Given the description of an element on the screen output the (x, y) to click on. 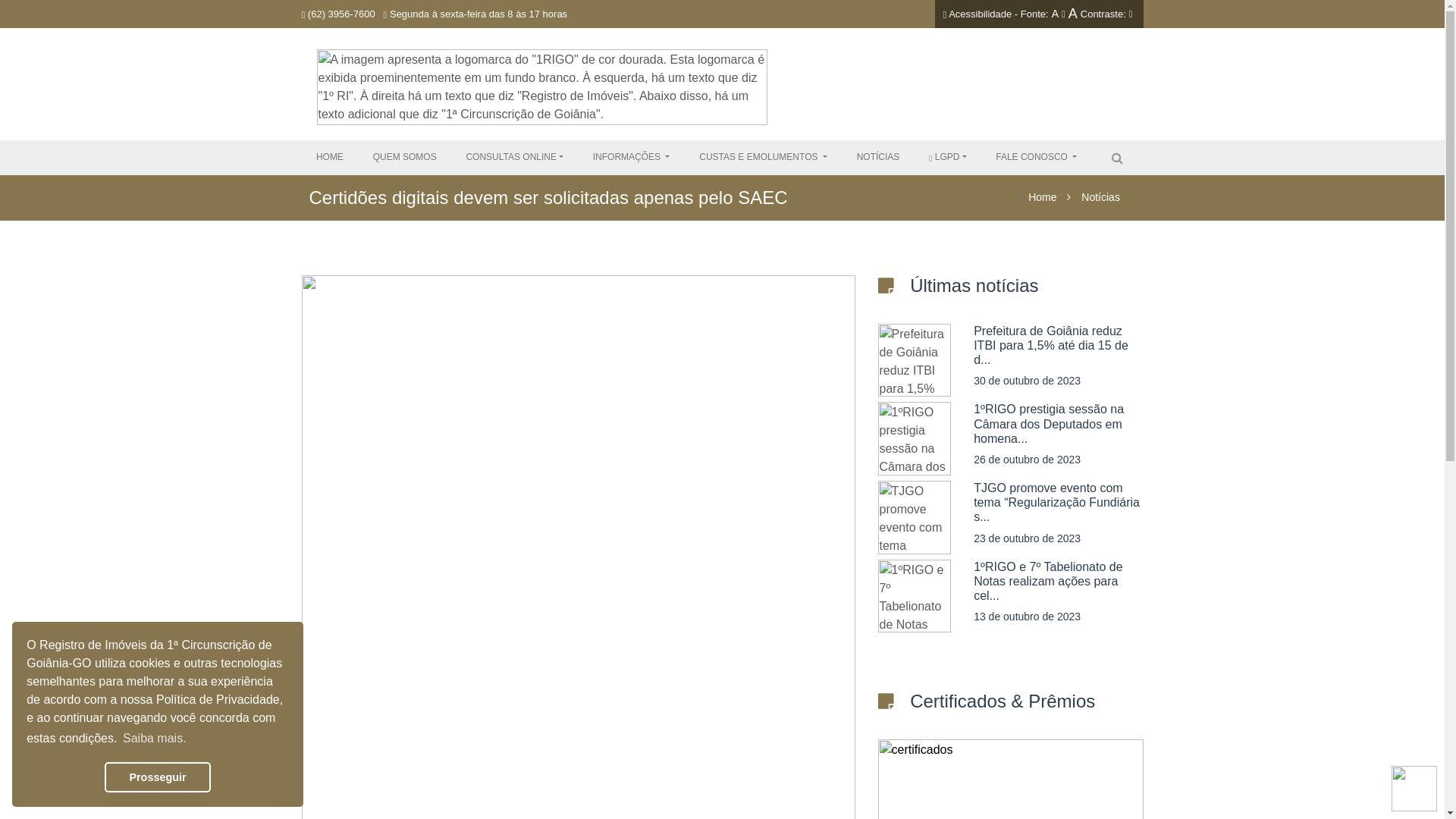
Saiba mais. Element type: text (154, 738)
Prosseguir Element type: text (157, 777)
CUSTAS E EMOLUMENTOS Element type: text (763, 156)
CONSULTAS ONLINE Element type: text (514, 156)
FALE CONOSCO Element type: text (1035, 156)
Acessibilidade Element type: text (979, 13)
A Element type: text (1072, 13)
HOME Element type: text (329, 156)
(62) 3956-7600 Element type: text (338, 13)
LGPD Element type: text (947, 156)
A Element type: text (1054, 13)
Home Element type: text (1042, 197)
QUEM SOMOS Element type: text (404, 156)
